Given the description of an element on the screen output the (x, y) to click on. 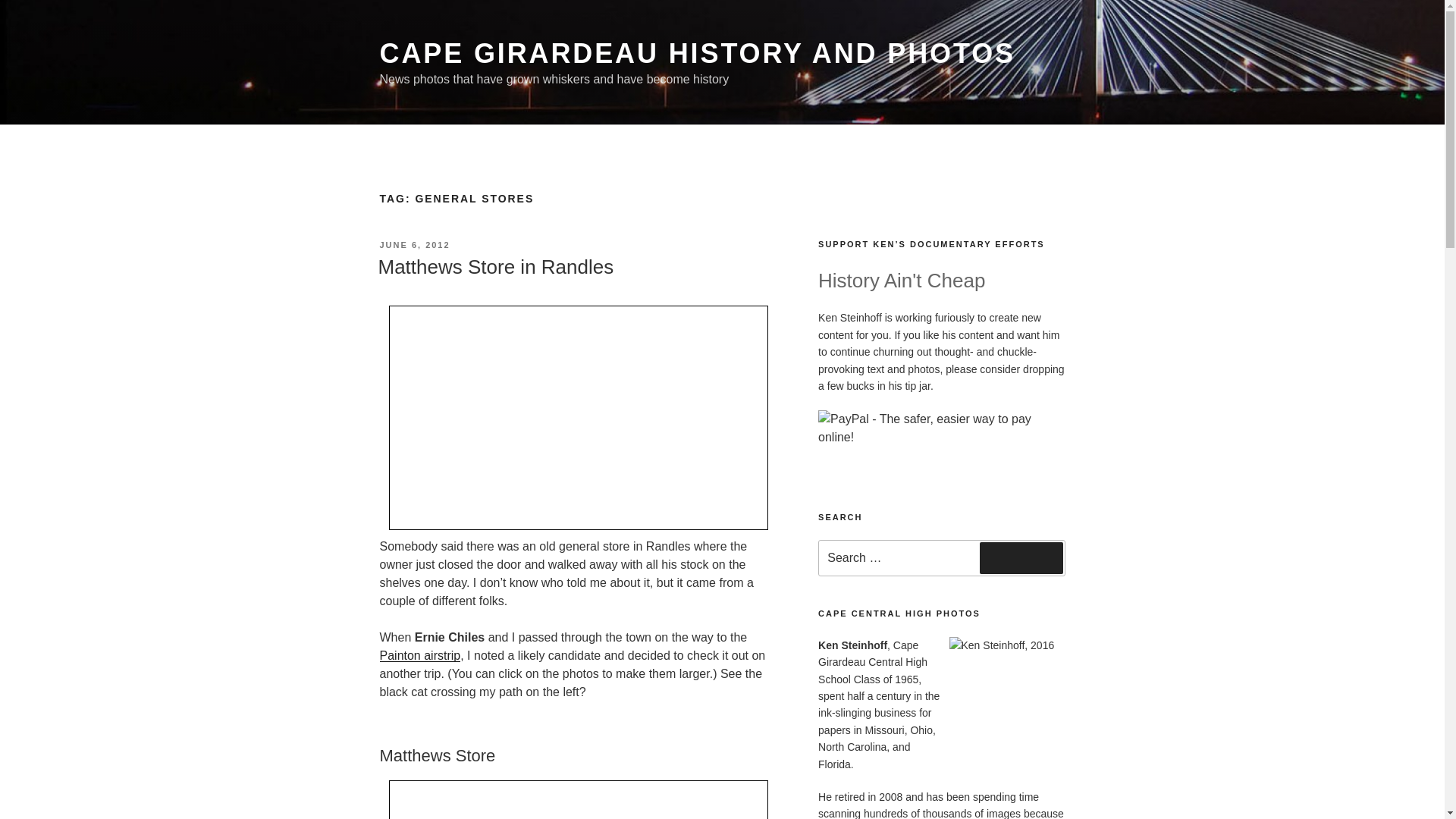
Matthews Store in Perkins, MO 11-15-2010 (578, 799)
Matthews Store in Randles (494, 266)
CAPE GIRARDEAU HISTORY AND PHOTOS (696, 52)
Search (1020, 558)
JUNE 6, 2012 (413, 244)
Flying out of the Painton airstrip (419, 655)
Painton airstrip (419, 655)
Matthews Store in Perkins, MO 11-15-2010 (578, 417)
